Given the description of an element on the screen output the (x, y) to click on. 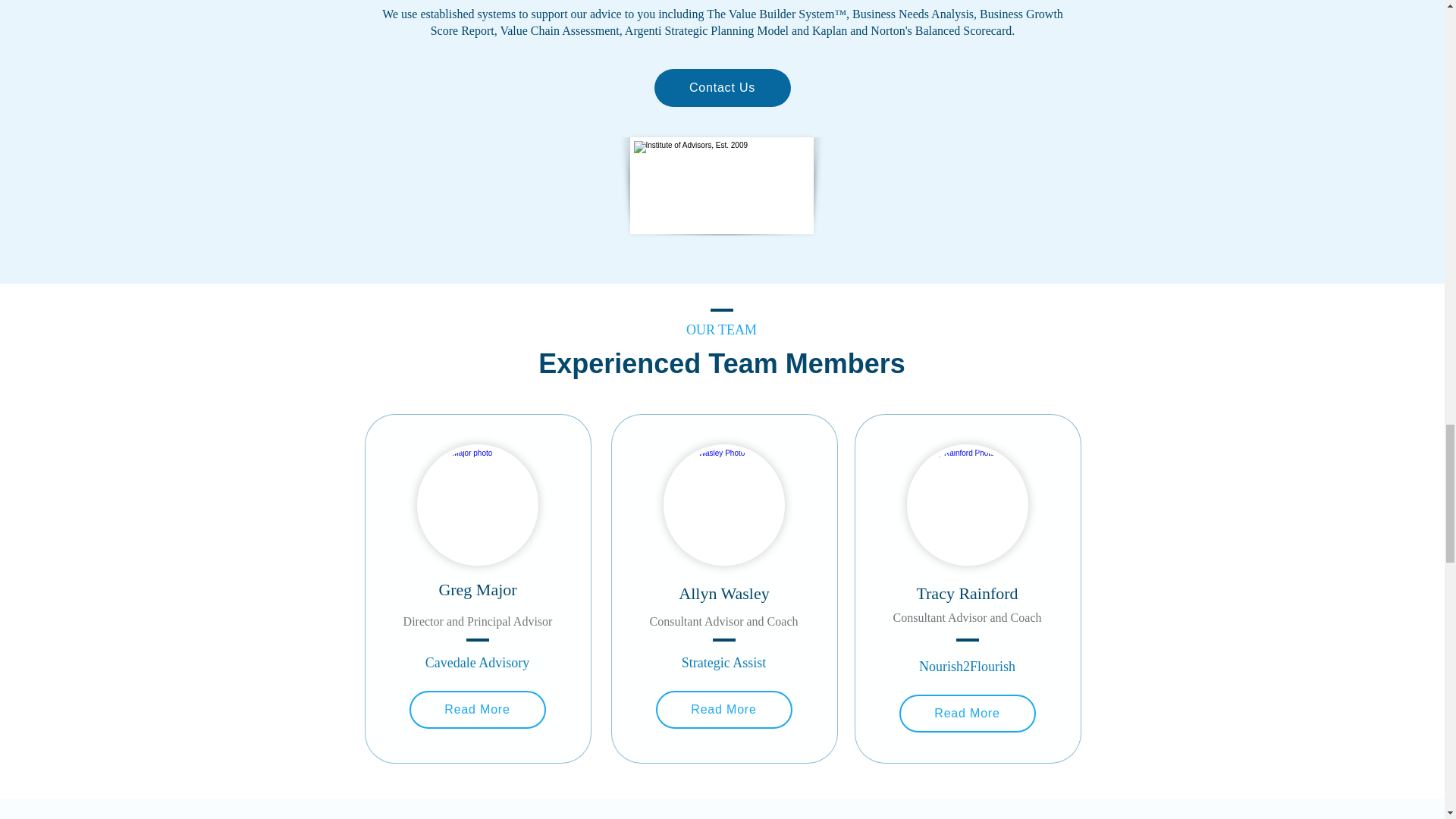
Read More (723, 709)
Read More (967, 713)
Contact Us (721, 87)
Read More (477, 709)
